Given the description of an element on the screen output the (x, y) to click on. 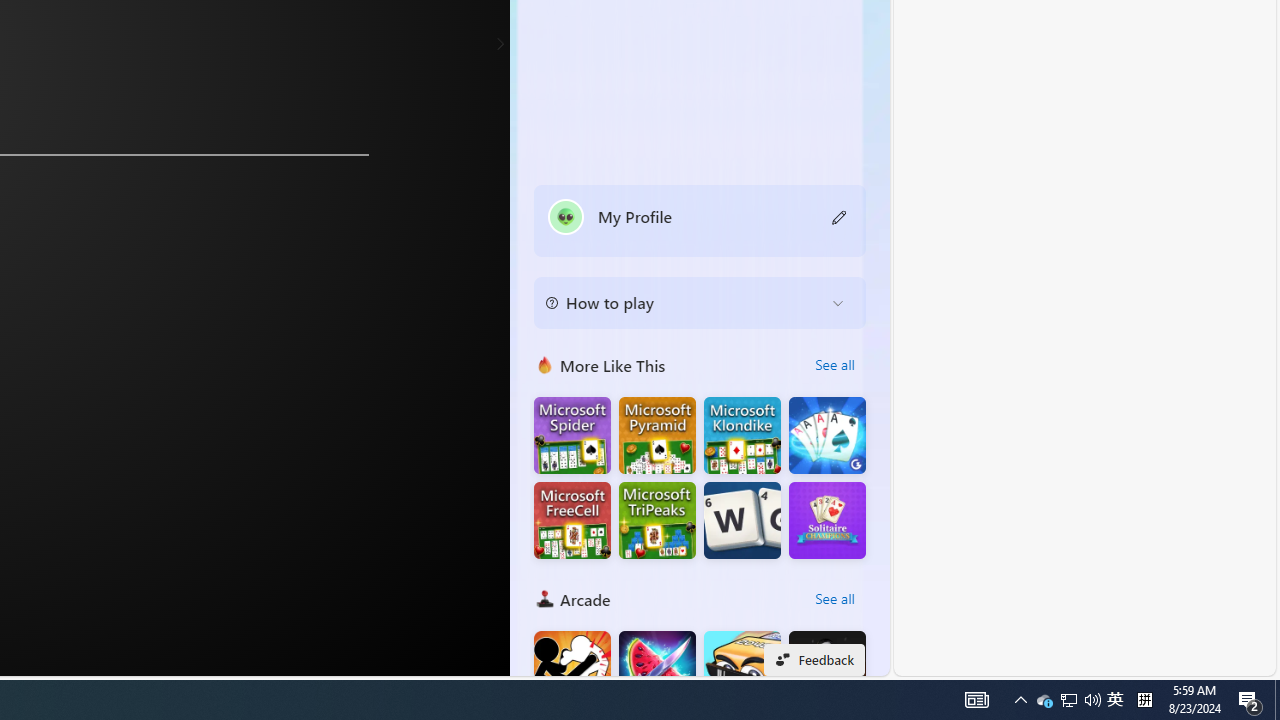
More Like This (544, 364)
Fruit Chopper (657, 669)
Microsoft Solitaire (742, 435)
Microsoft Ultimate Word Games (742, 520)
Arcade (544, 598)
""'s avatar (565, 216)
